Given the description of an element on the screen output the (x, y) to click on. 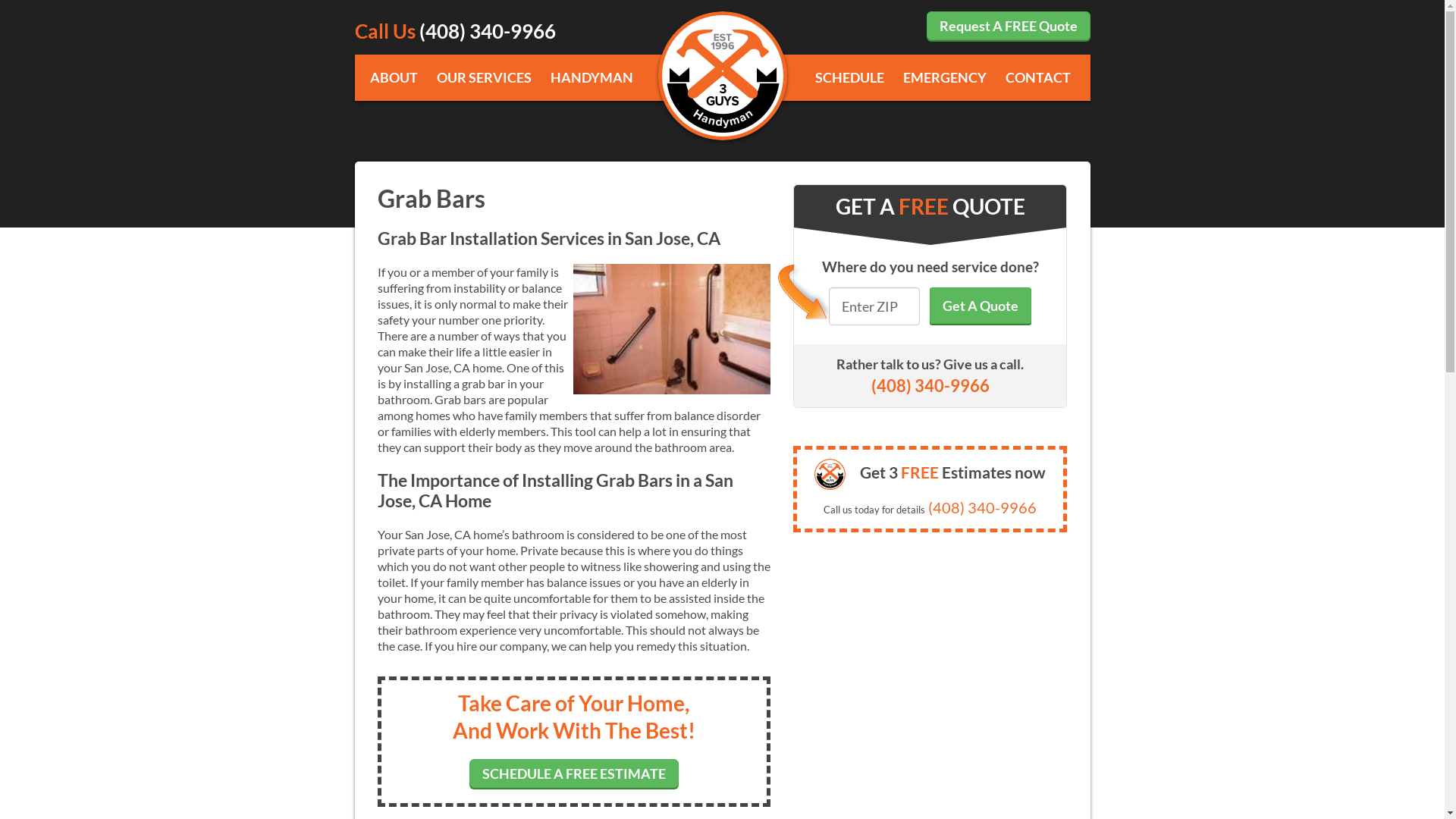
(408) 340-9966 Element type: text (930, 385)
(408) 340-9966 Element type: text (486, 30)
SCHEDULE A FREE ESTIMATE Element type: text (573, 773)
CONTACT Element type: text (1037, 77)
Get A Quote Element type: text (980, 305)
OUR SERVICES Element type: text (483, 77)
(408) 340-9966 Element type: text (982, 507)
HANDYMAN Element type: text (591, 77)
Request A FREE Quote Element type: text (1008, 25)
EMERGENCY Element type: text (943, 77)
SCHEDULE Element type: text (848, 77)
ABOUT Element type: text (393, 77)
